Given the description of an element on the screen output the (x, y) to click on. 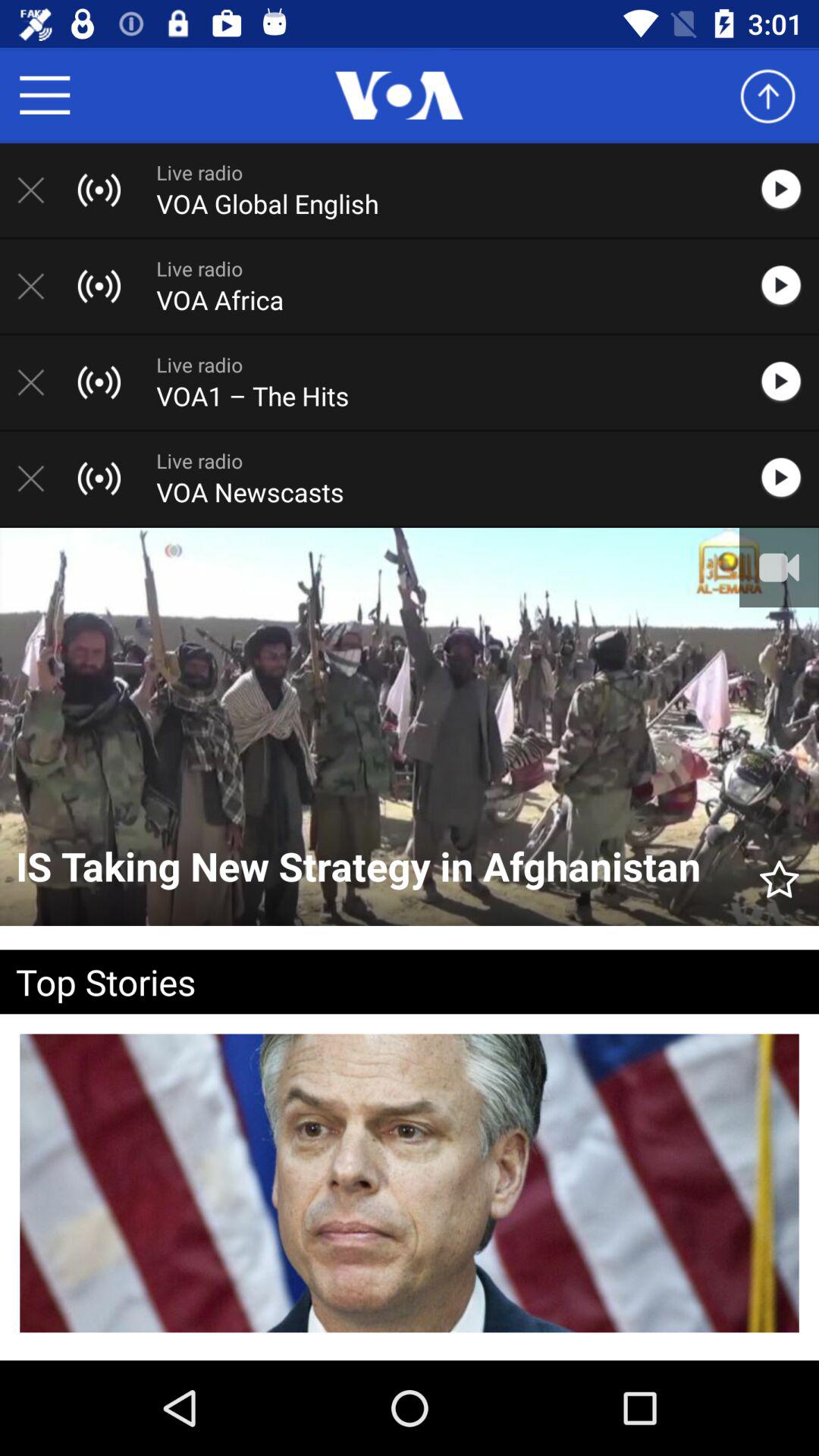
press top stories icon (385, 981)
